Given the description of an element on the screen output the (x, y) to click on. 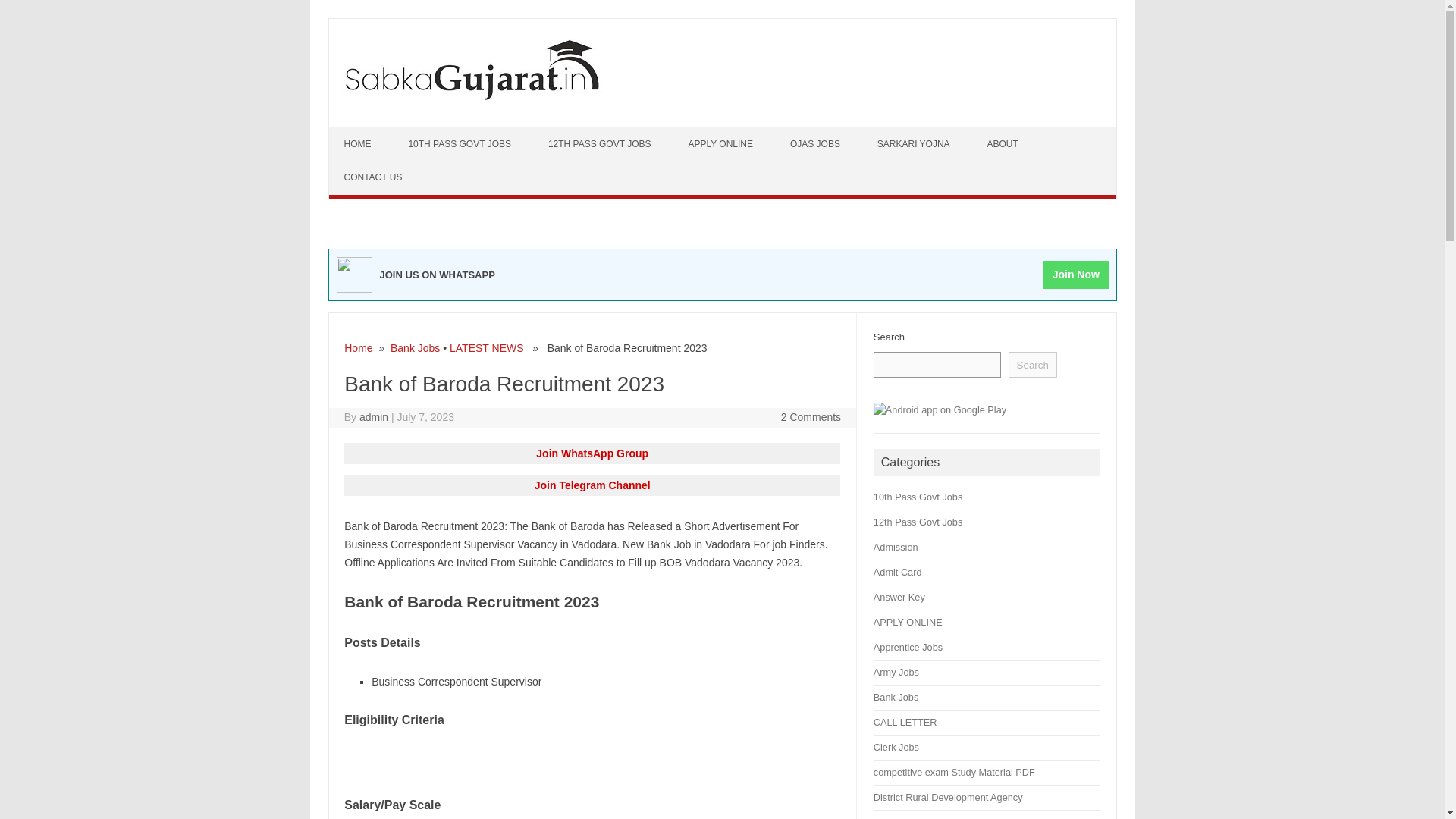
ABOUT (1004, 143)
2 Comments (810, 417)
Posts by admin (373, 417)
LATEST NEWS (486, 347)
Join Telegram Channel (592, 485)
CONTACT US (375, 177)
12TH PASS GOVT JOBS (600, 143)
admin (373, 417)
OJAS JOBS (816, 143)
Join WhatsApp Group (591, 453)
10TH PASS GOVT JOBS (461, 143)
Skip to content (363, 132)
Bank Jobs (414, 347)
HOME (359, 143)
SARKARI YOJNA (915, 143)
